Given the description of an element on the screen output the (x, y) to click on. 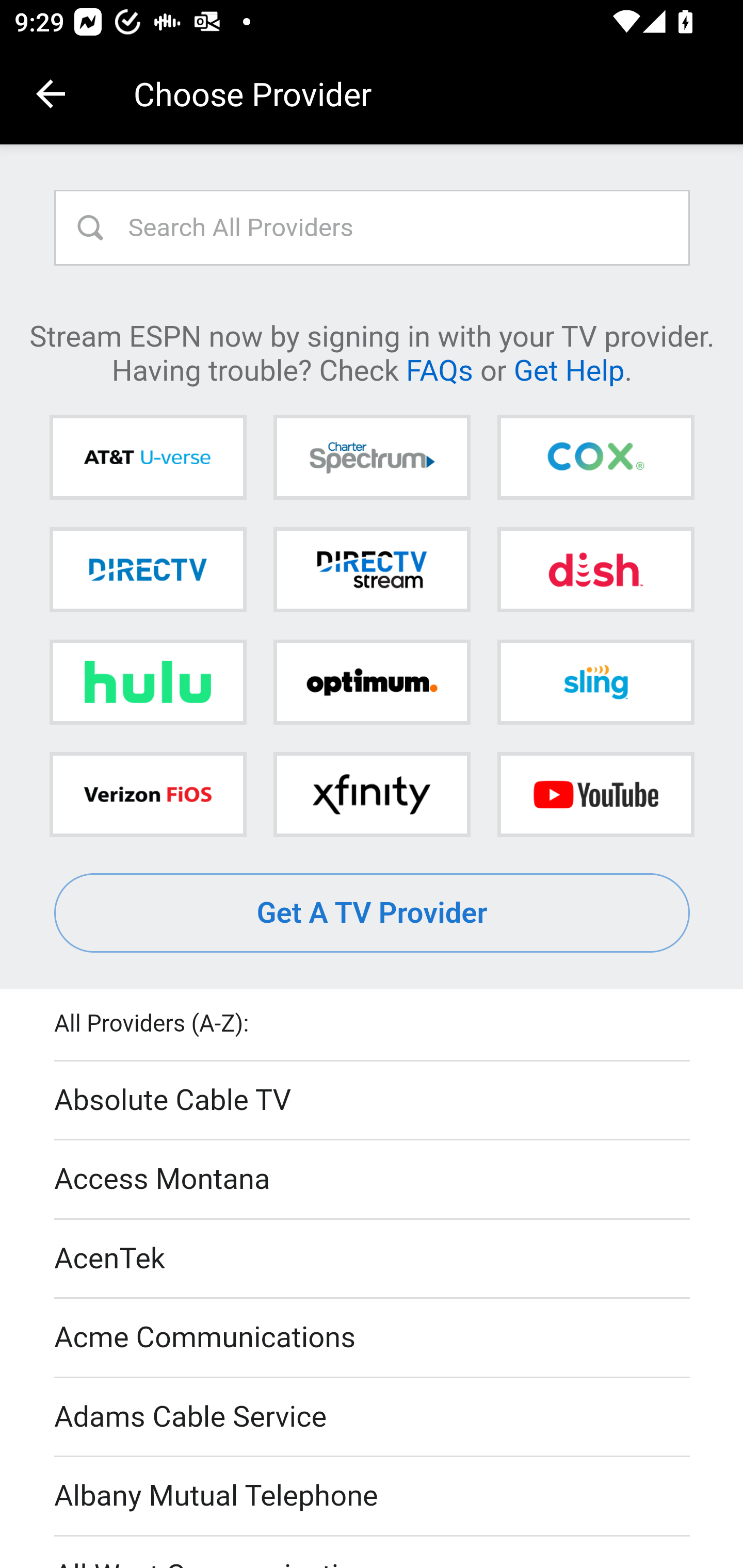
Navigate up (50, 93)
FAQs (438, 369)
Get Help (569, 369)
AT&T U-verse (147, 457)
Charter Spectrum (371, 457)
Cox (595, 457)
DIRECTV (147, 568)
DIRECTV STREAM (371, 568)
DISH (595, 568)
Hulu (147, 681)
Optimum (371, 681)
Sling TV (595, 681)
Verizon FiOS (147, 793)
Xfinity (371, 793)
YouTube TV (595, 793)
Get A TV Provider (372, 912)
Absolute Cable TV (372, 1100)
Access Montana (372, 1178)
AcenTek (372, 1258)
Acme Communications (372, 1338)
Adams Cable Service (372, 1417)
Albany Mutual Telephone (372, 1497)
